Given the description of an element on the screen output the (x, y) to click on. 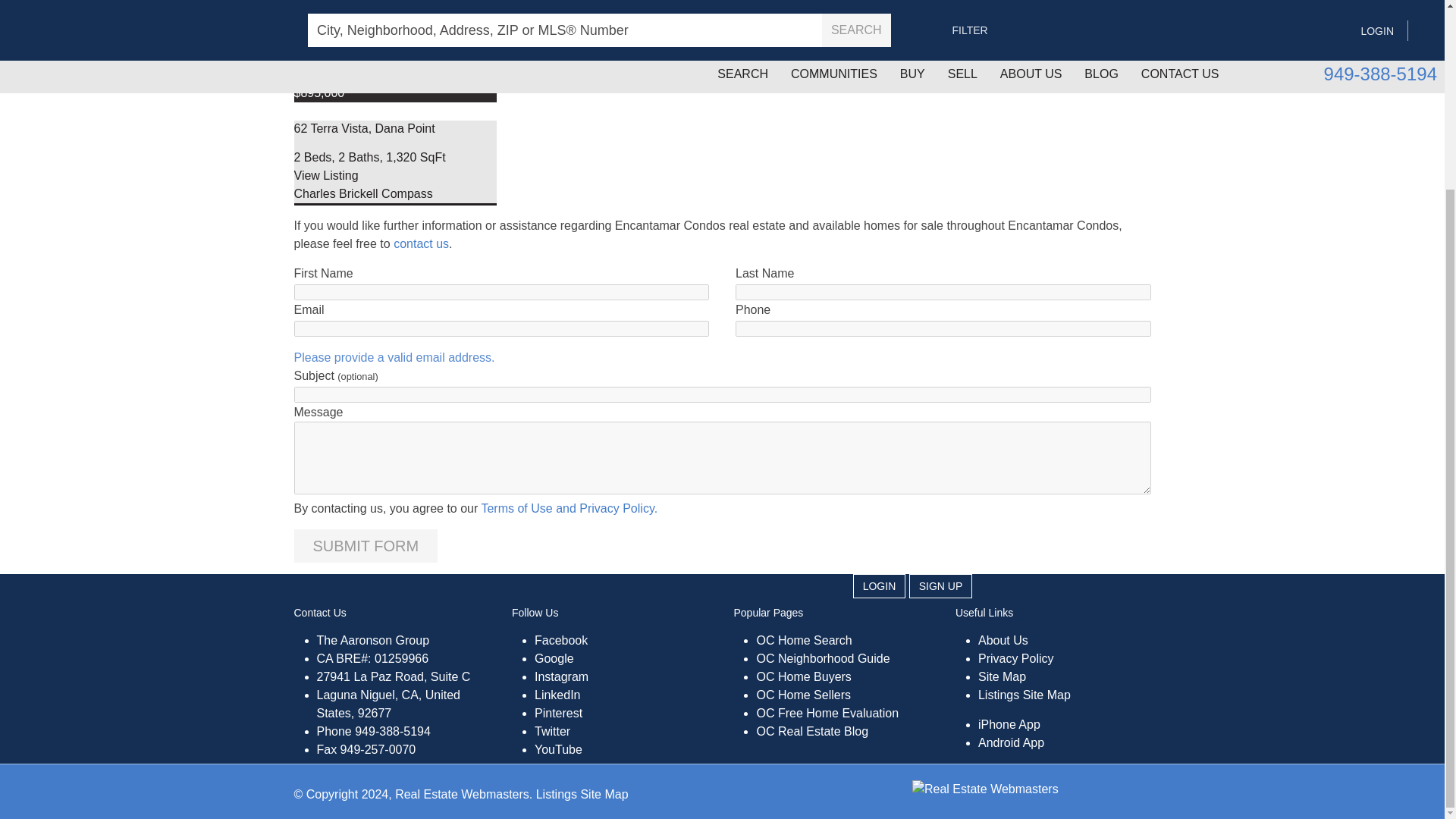
Linkedin (557, 694)
Google (553, 658)
View more information about 62 Terra Vista. (326, 174)
Twitter (552, 730)
Instagram (561, 676)
Facebook (561, 640)
Real Estate Web Design by Real Estate Webmasters (985, 788)
Pinterest (558, 712)
Youtube (558, 748)
